Given the description of an element on the screen output the (x, y) to click on. 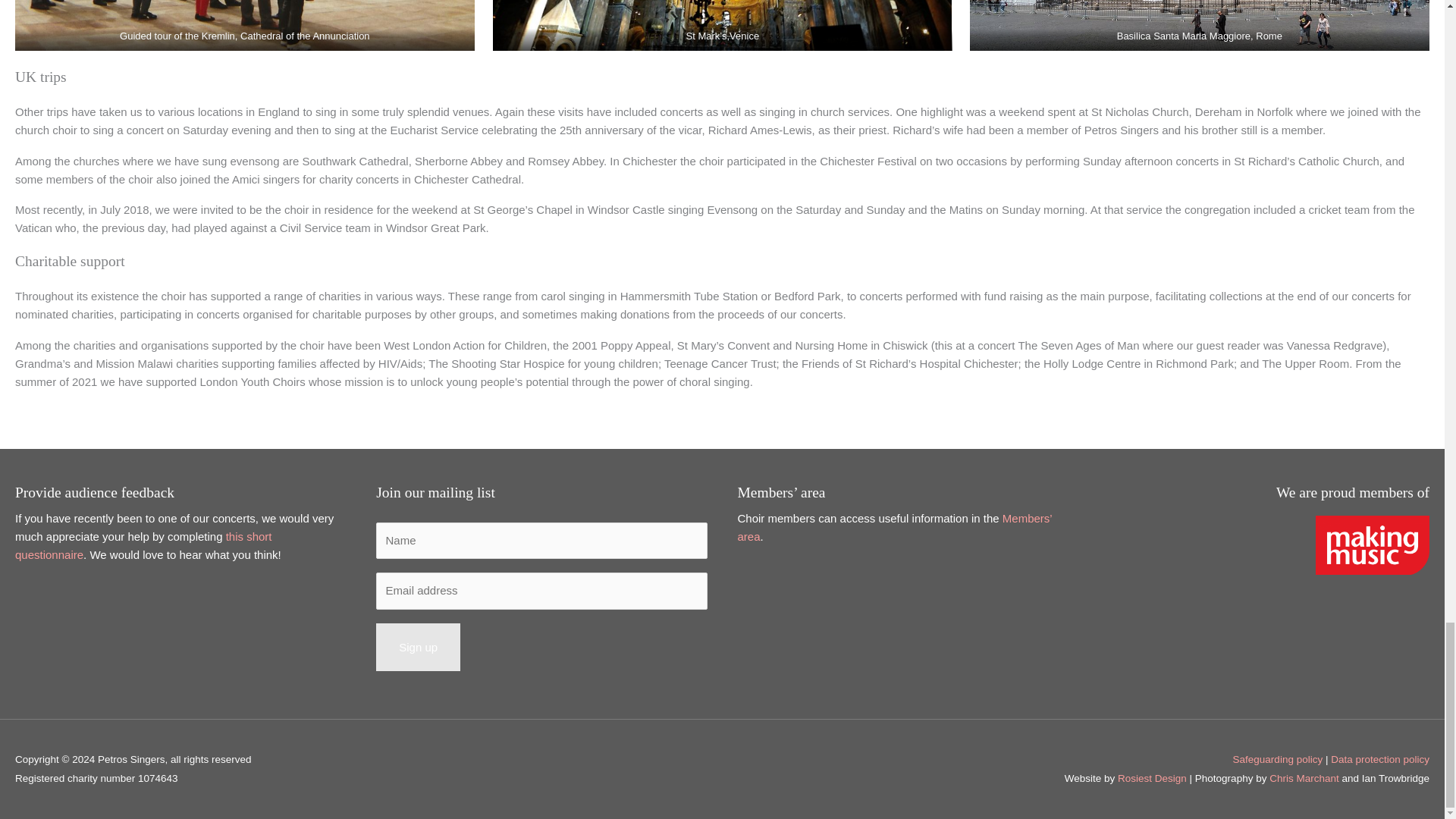
Sign up (417, 647)
Sign up (417, 647)
this short questionnaire (143, 545)
Safeguarding policy (1278, 758)
Data protection policy (1379, 758)
